Given the description of an element on the screen output the (x, y) to click on. 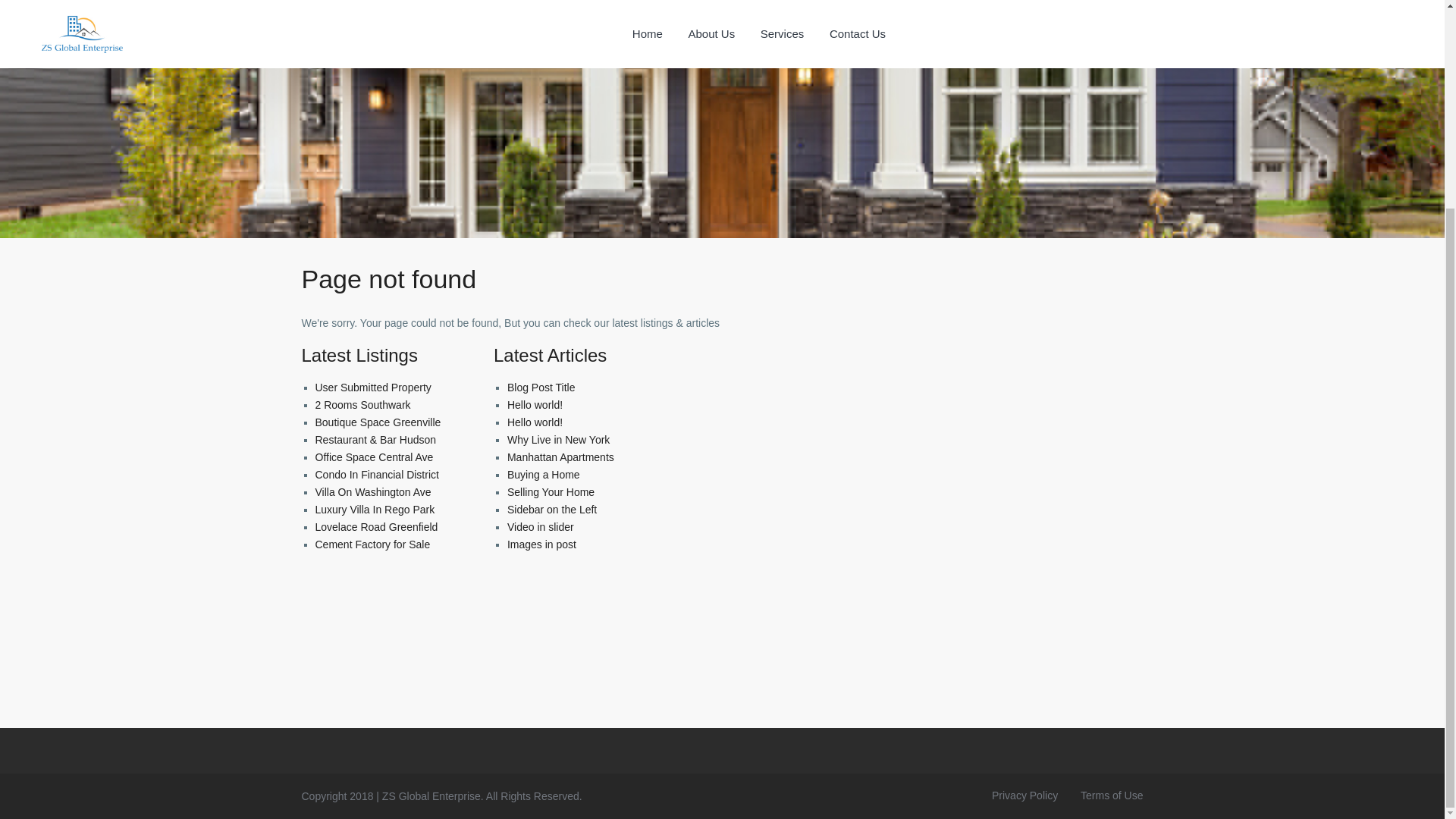
Blog Post Title (540, 387)
Boutique Space Greenville (378, 422)
Hello world! (534, 404)
Lovelace Road Greenfield (376, 526)
Manhattan Apartments (560, 457)
Why Live in New York (558, 439)
Hello world! (534, 422)
Condo In Financial District (377, 474)
Buying a Home (542, 474)
Selling Your Home (550, 491)
